Given the description of an element on the screen output the (x, y) to click on. 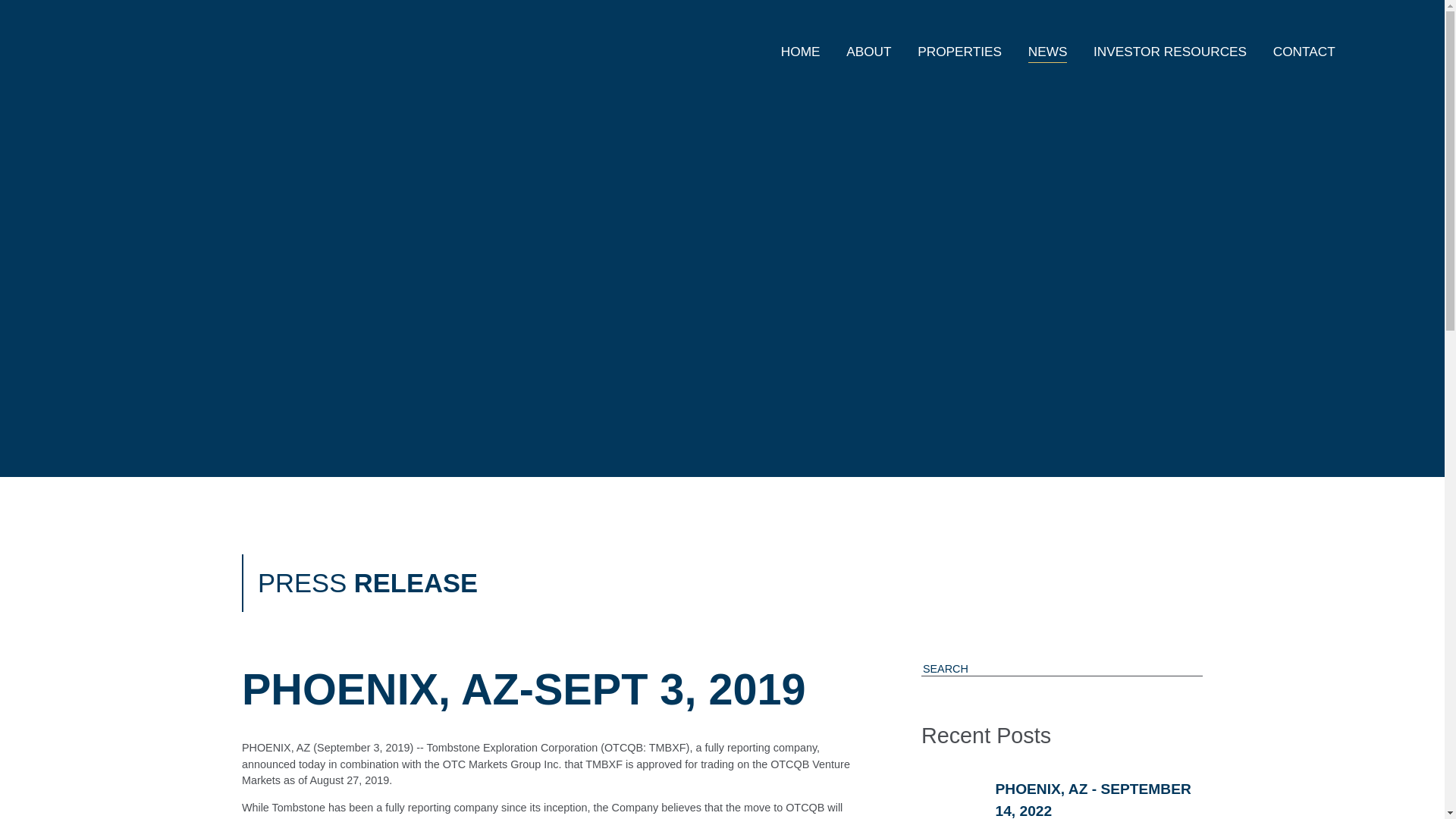
ABOUT (868, 51)
CONTACT (1303, 51)
NEWS (1047, 51)
PHOENIX, AZ - SEPTEMBER 14, 2022 (1092, 800)
HOME (800, 51)
INVESTOR RESOURCES (1170, 51)
PROPERTIES (959, 51)
SEARCH (1180, 669)
